Given the description of an element on the screen output the (x, y) to click on. 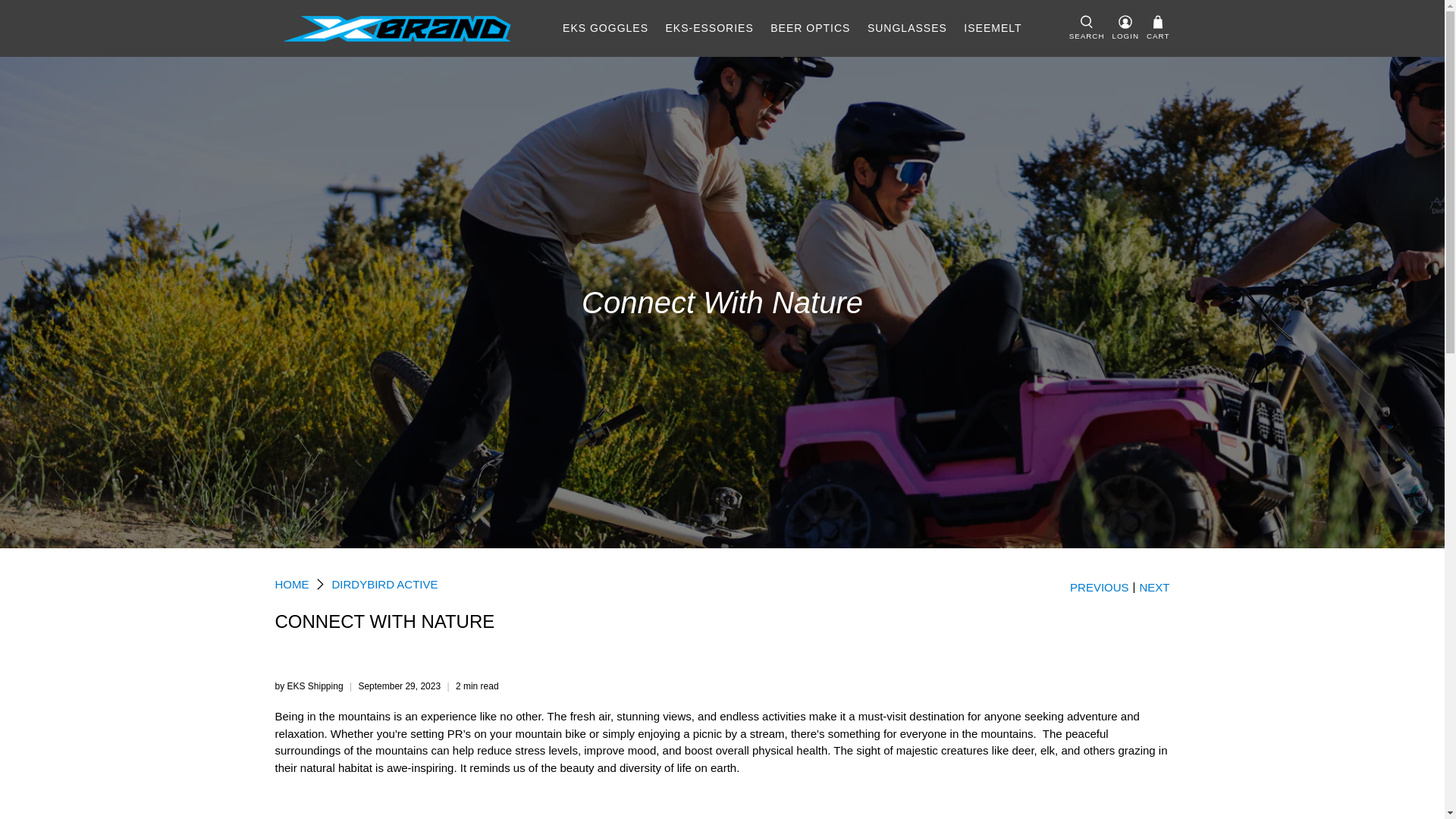
EKS-ESSORIES (708, 28)
SUNGLASSES (907, 28)
EKS Brand (397, 28)
LOGIN (1125, 28)
BEER OPTICS (810, 28)
EKS GOGGLES (605, 28)
Previous (1099, 586)
EKS Brand (291, 583)
ISEEMELT (992, 28)
Next (1153, 586)
DirdyBird Active (384, 583)
SEARCH (1086, 28)
CART (1158, 28)
